Given the description of an element on the screen output the (x, y) to click on. 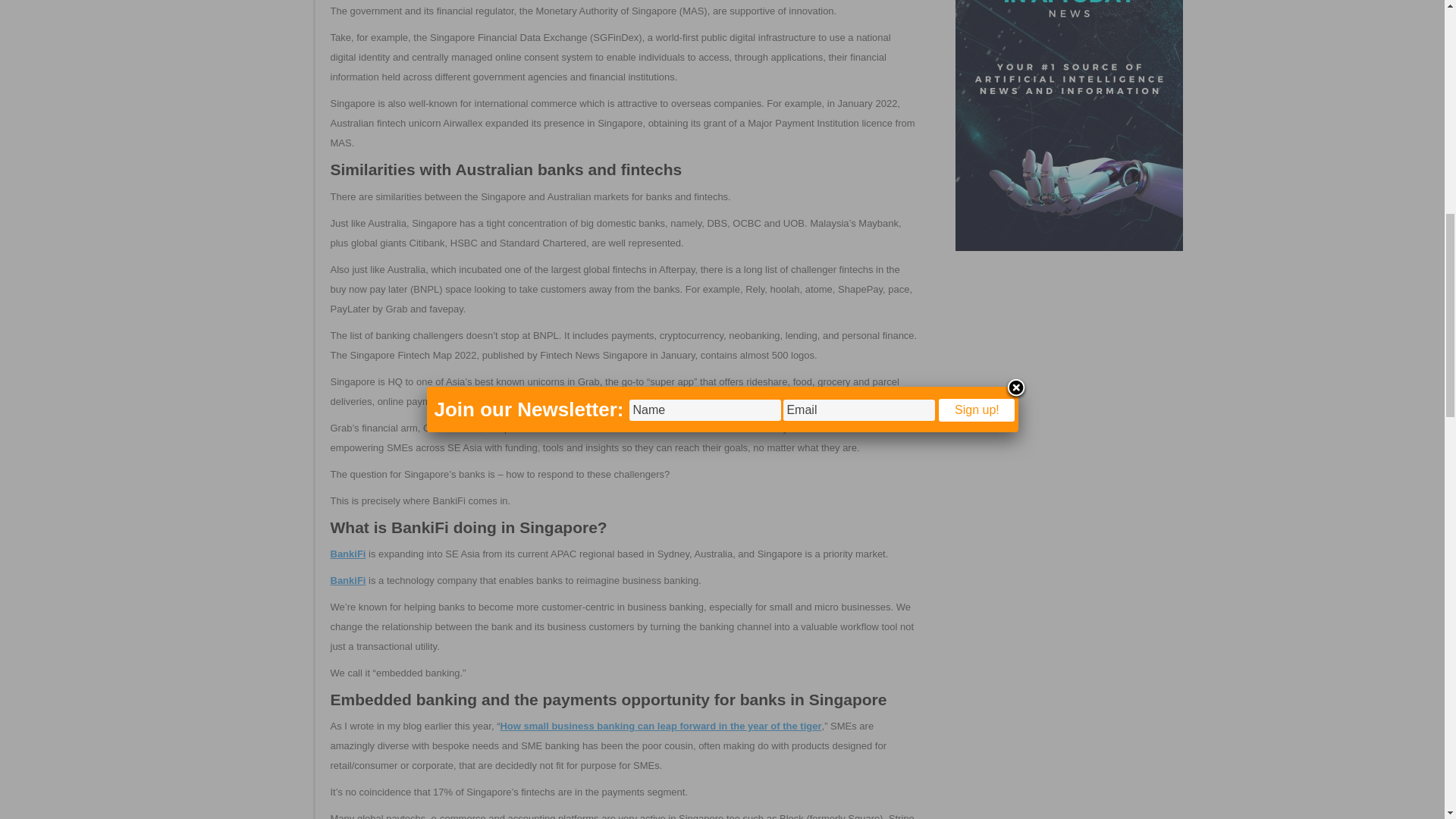
BankiFi (348, 553)
BankiFi (348, 580)
